Given the description of an element on the screen output the (x, y) to click on. 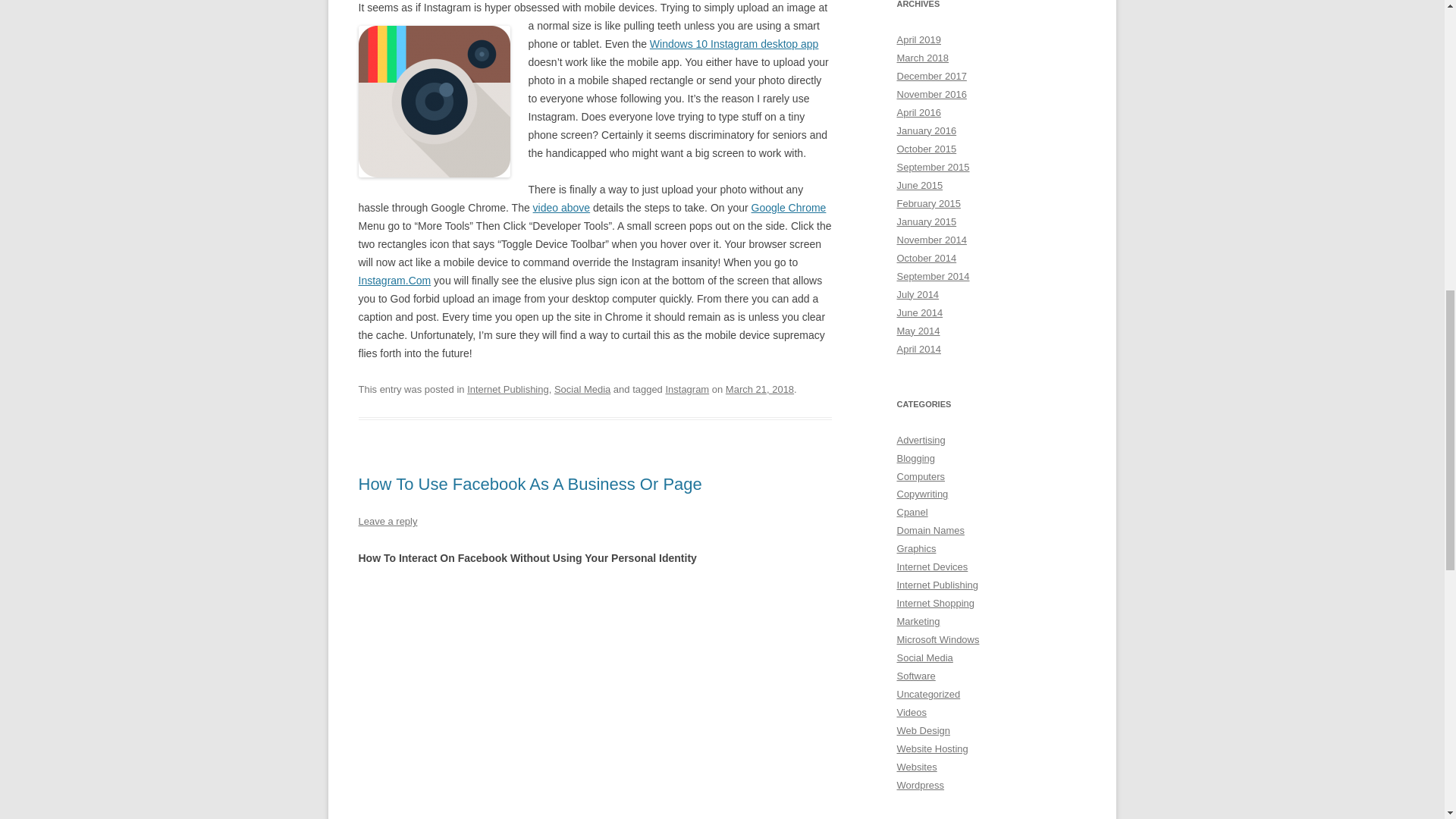
Instagram.Com (394, 280)
Google Chrome (789, 207)
12:52 pm (759, 389)
Internet Publishing (507, 389)
Windows 10 Instagram desktop app (733, 43)
How To Use Facebook As A Business Or Page (529, 484)
video above (561, 207)
Social Media (582, 389)
Instagram (687, 389)
Leave a reply (387, 521)
